Given the description of an element on the screen output the (x, y) to click on. 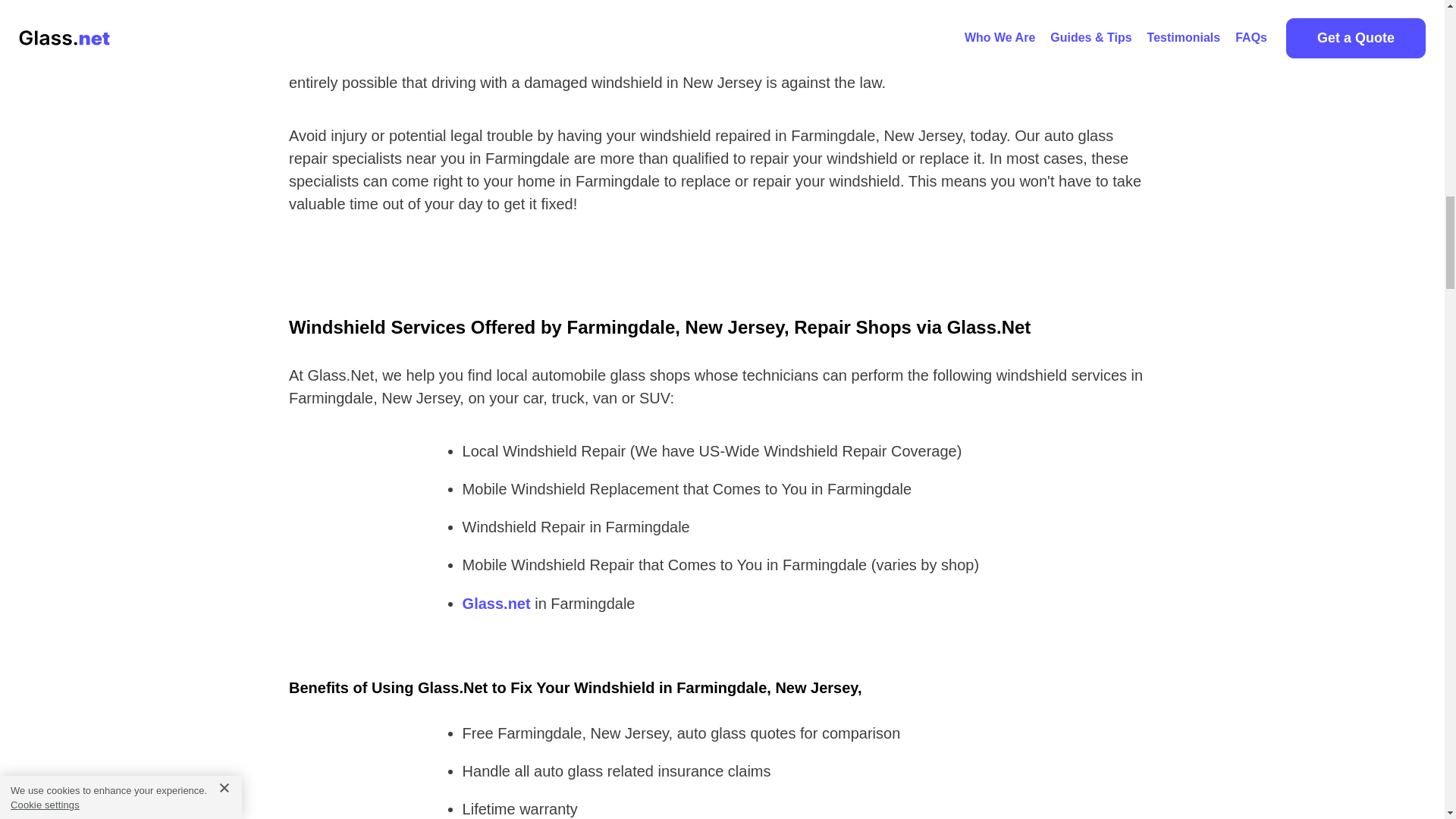
Glass.net (497, 603)
